Given the description of an element on the screen output the (x, y) to click on. 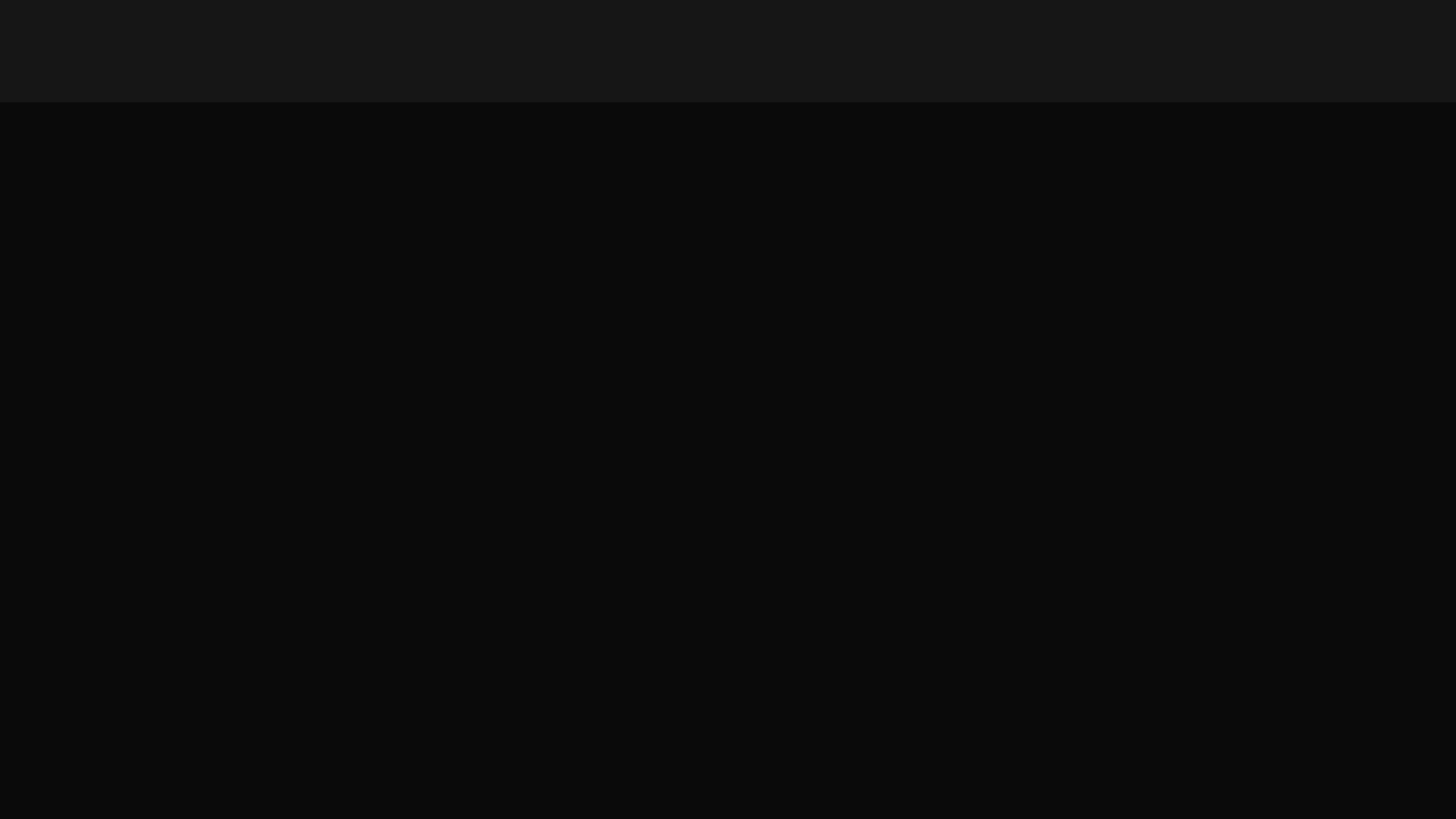
Skip to content Element type: text (0, 0)
